Given the description of an element on the screen output the (x, y) to click on. 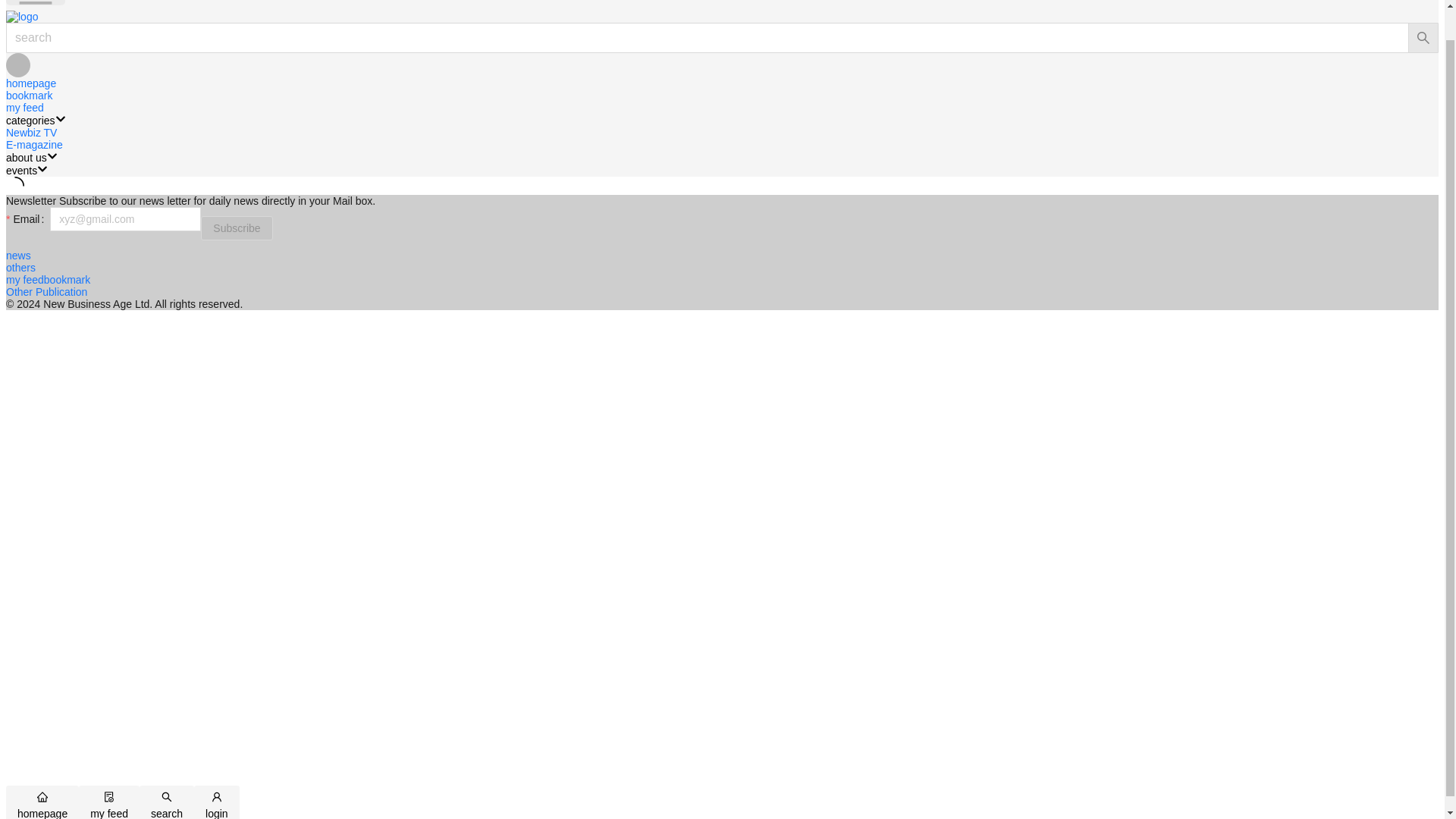
Subscribe (236, 228)
Other Publication (46, 291)
others (19, 267)
news (17, 255)
my feed (24, 107)
E-magazine (33, 144)
bookmark (66, 279)
bookmark (28, 95)
homepage (30, 82)
my feed (24, 279)
